Given the description of an element on the screen output the (x, y) to click on. 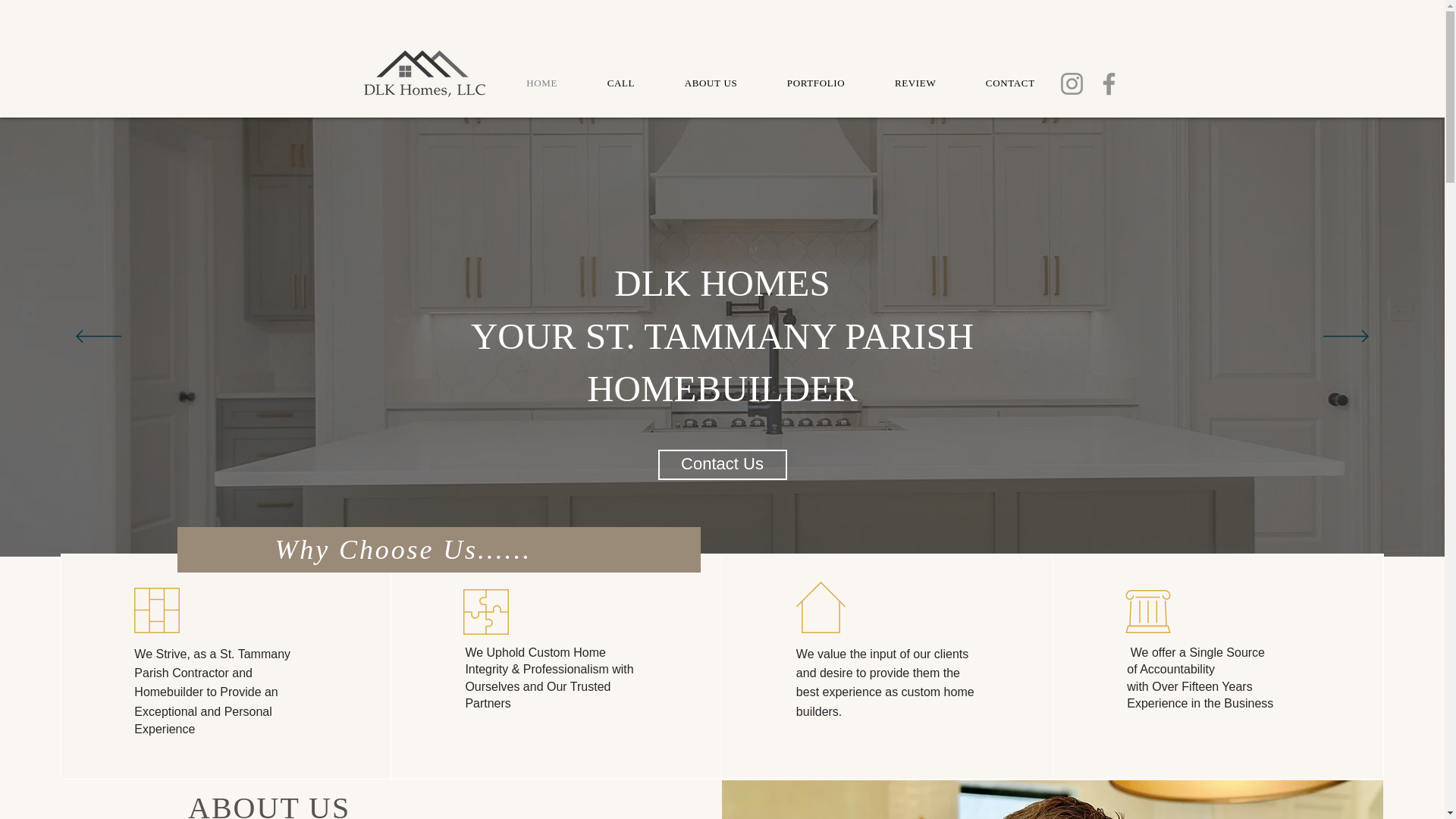
ABOUT US (710, 82)
Contact Us (722, 464)
CALL (620, 82)
REVIEW (915, 82)
CONTACT (1010, 82)
HOME (542, 82)
